Given the description of an element on the screen output the (x, y) to click on. 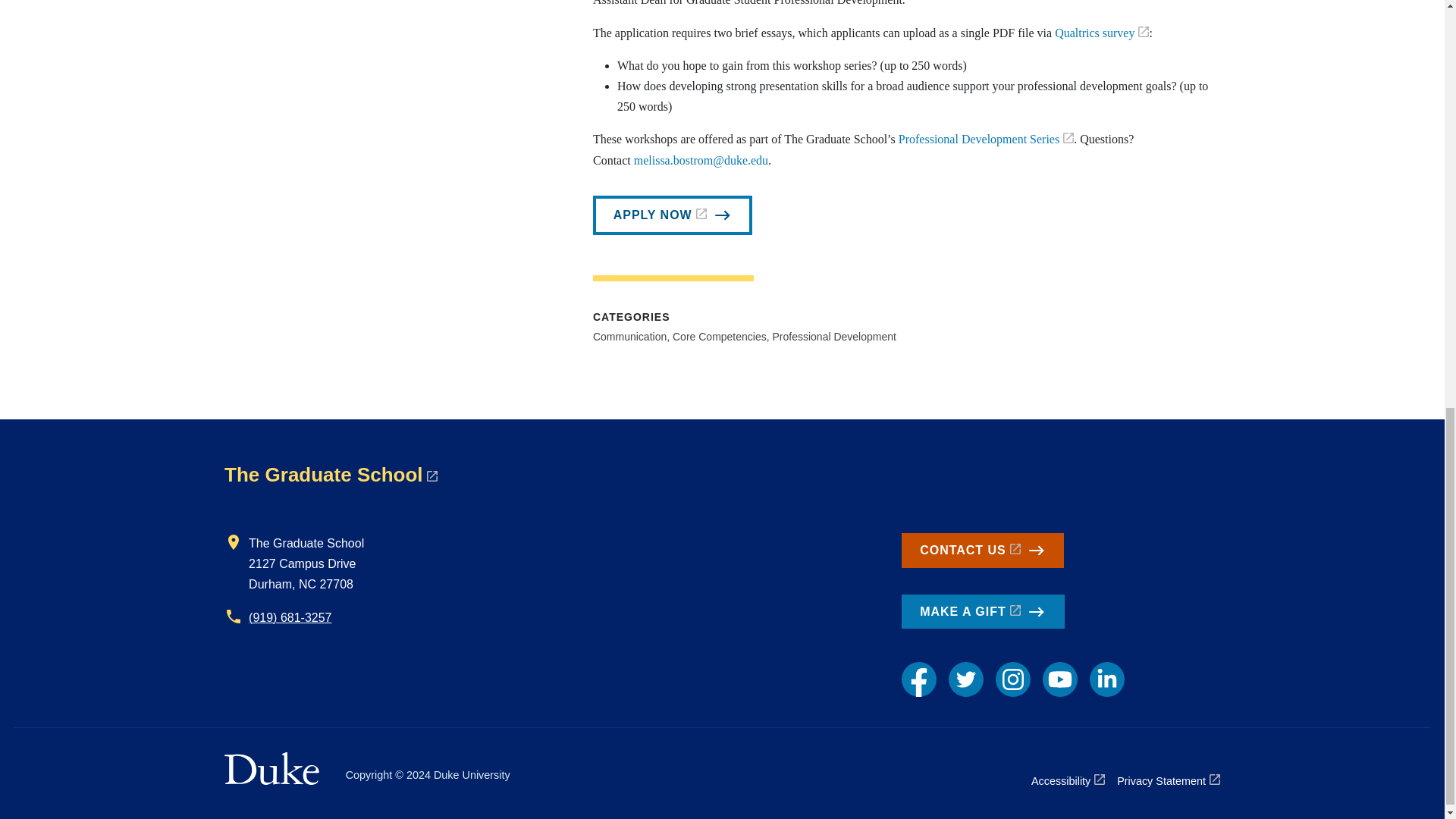
Accessibility (1067, 781)
CONTACT US (982, 550)
Privacy Statement (1168, 781)
APPLY NOW (672, 215)
Qualtrics survey (1101, 32)
MAKE A GIFT (982, 611)
The Graduate School (331, 474)
LinkedIn link (1106, 678)
YouTube link (1059, 678)
Professional Development Series (986, 138)
Facebook link (918, 678)
Twitter link (966, 678)
Instagram link (1012, 678)
